Given the description of an element on the screen output the (x, y) to click on. 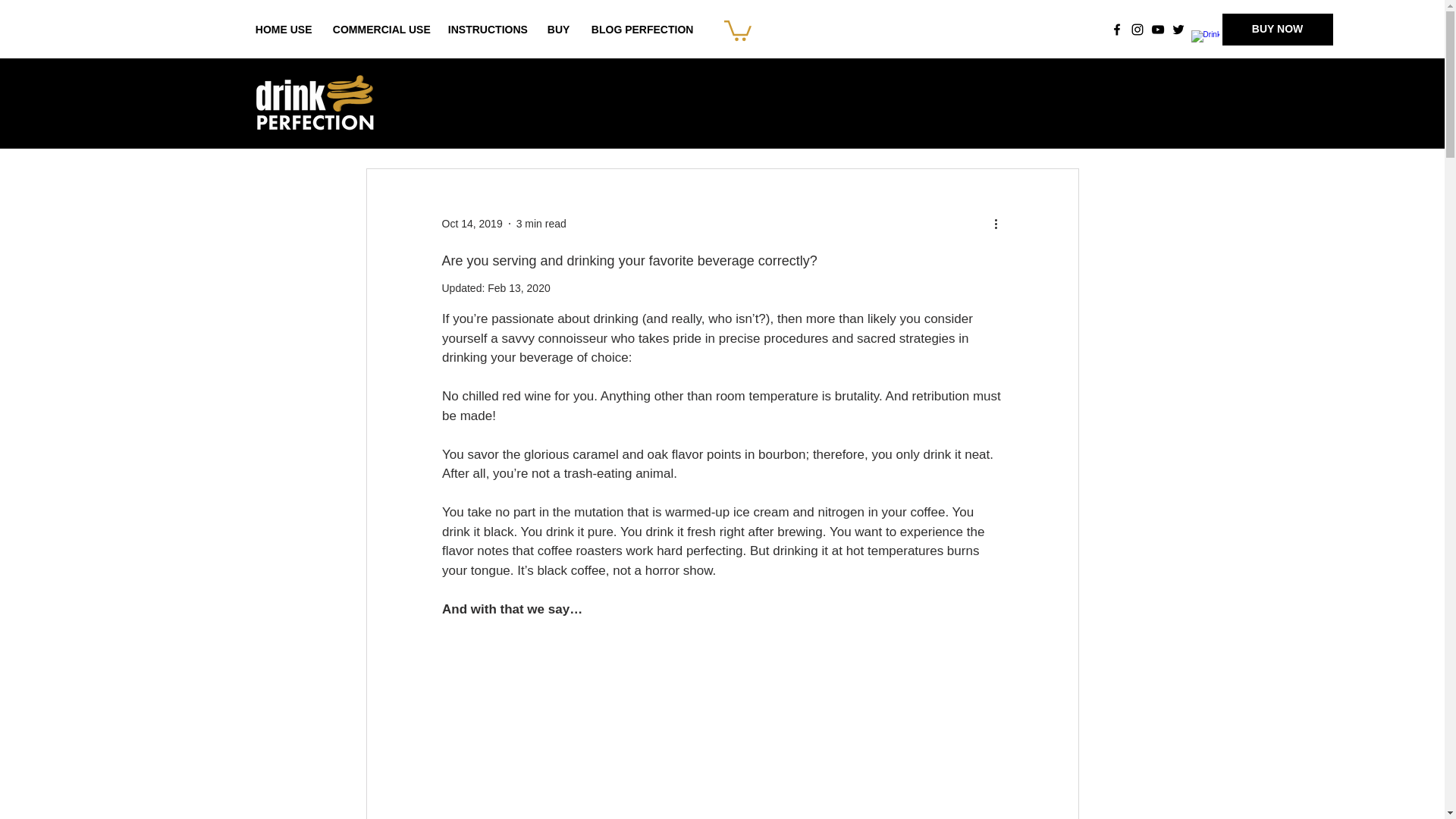
INSTRUCTIONS (485, 29)
HOME USE (282, 29)
BUY NOW (1278, 29)
BLOG PERFECTION (638, 29)
BUY (557, 29)
Oct 14, 2019 (471, 223)
COMMERCIAL USE (378, 29)
Feb 13, 2020 (518, 287)
3 min read (541, 223)
